Given the description of an element on the screen output the (x, y) to click on. 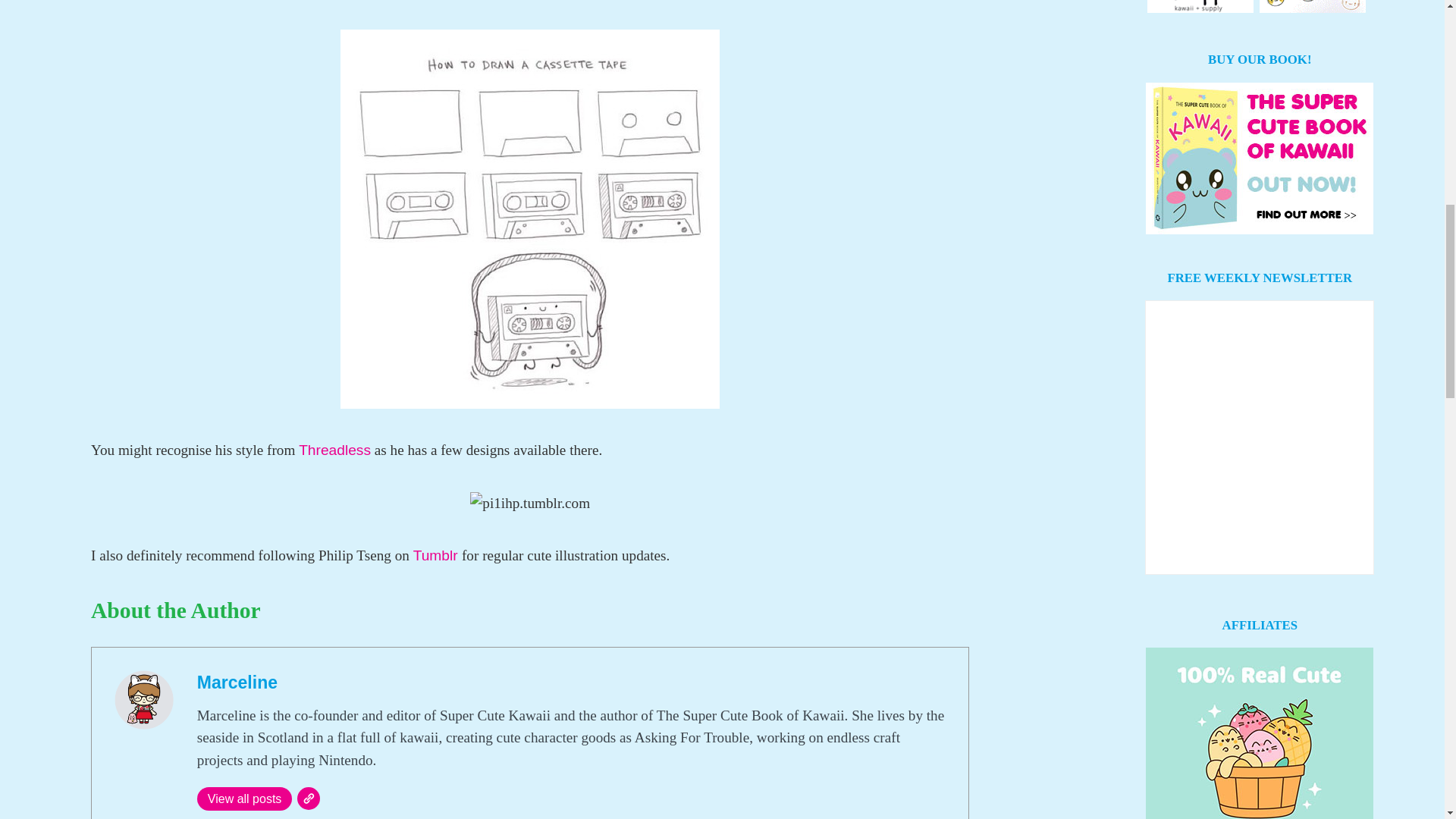
View all posts (244, 798)
Marceline (237, 682)
